Given the description of an element on the screen output the (x, y) to click on. 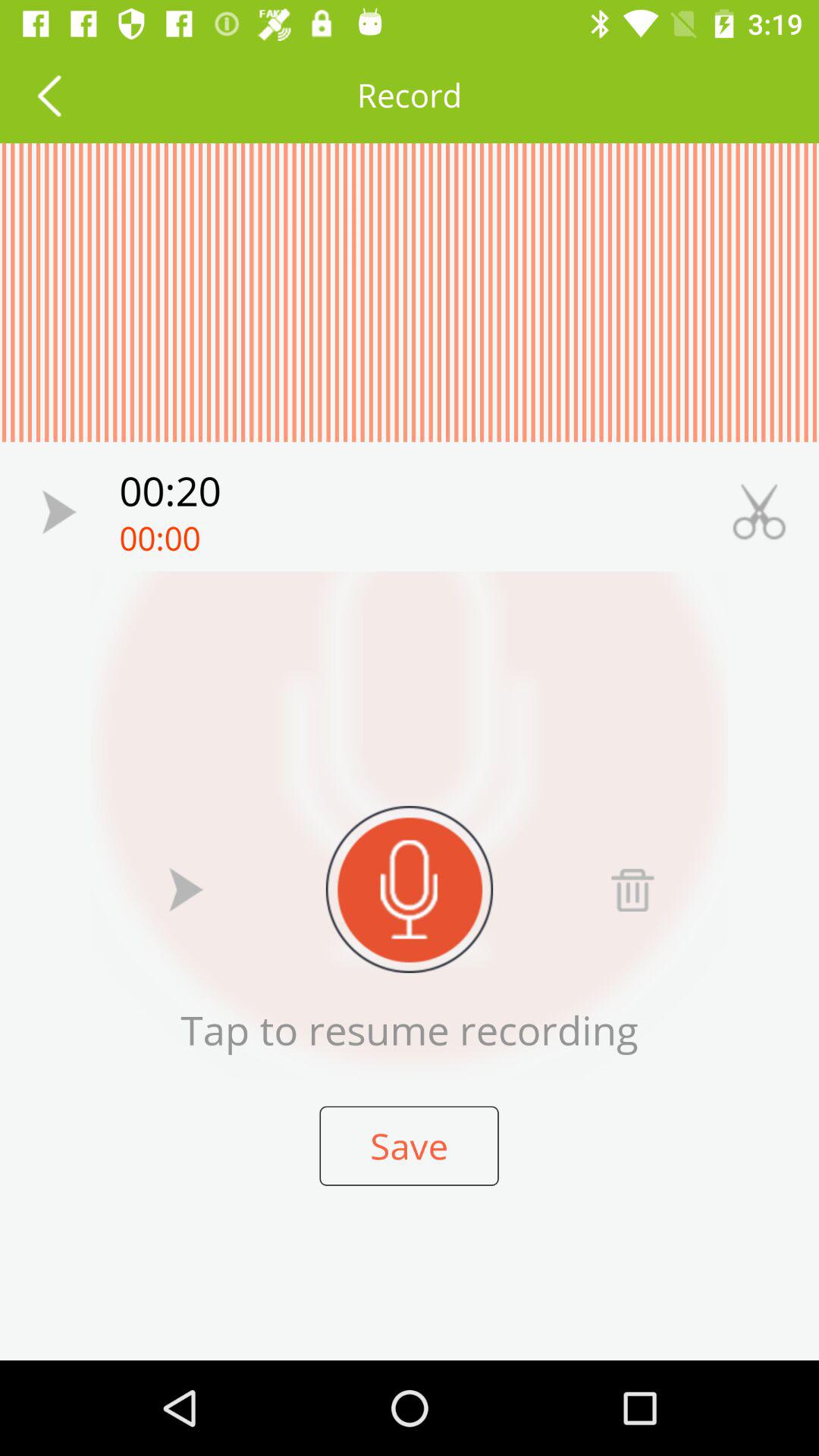
exclude audio option (632, 889)
